Given the description of an element on the screen output the (x, y) to click on. 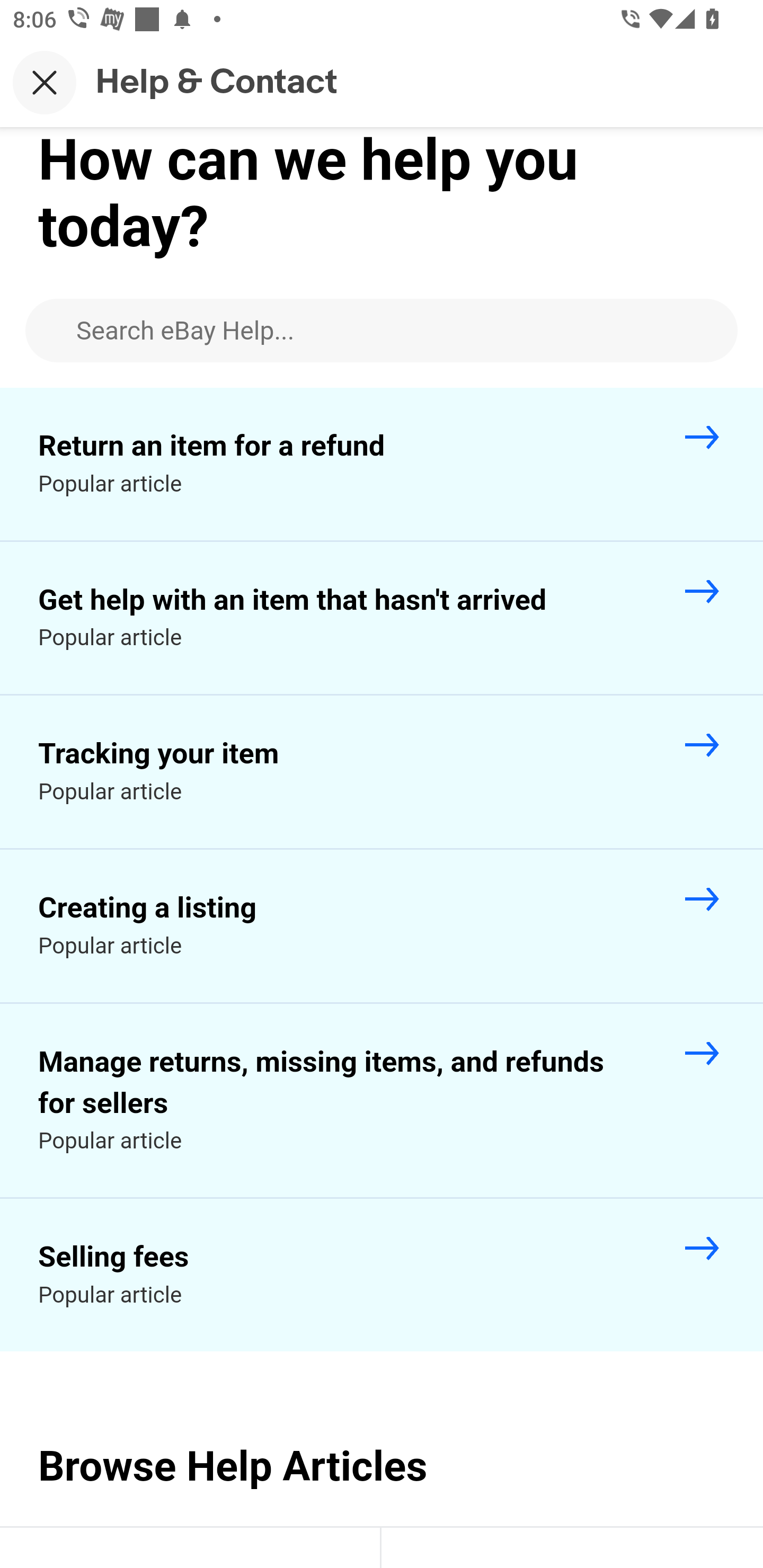
Close (44, 82)
